Given the description of an element on the screen output the (x, y) to click on. 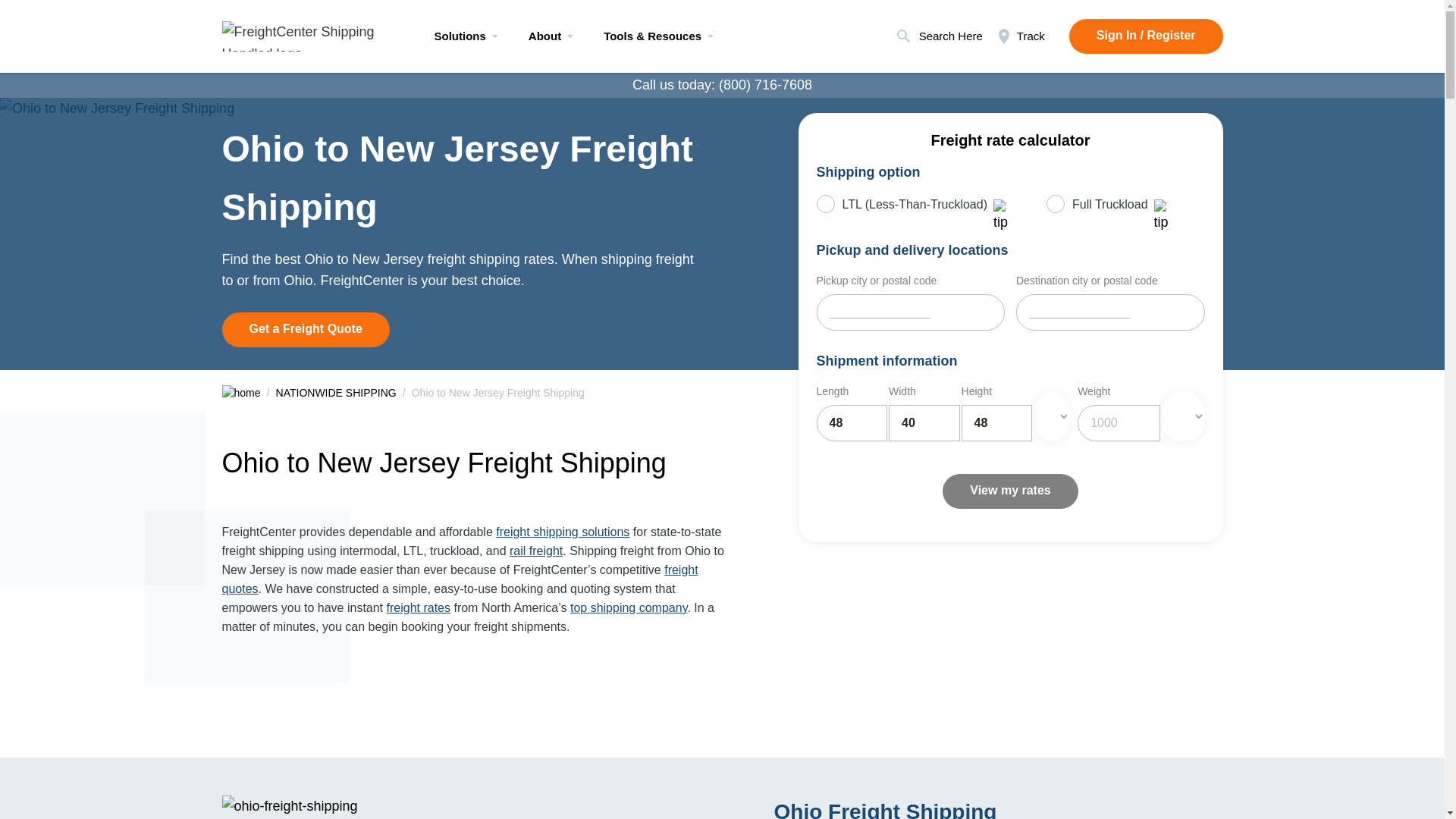
View my rates (1009, 491)
48 (996, 422)
NATIONWIDE SHIPPING (336, 392)
freight shipping solutions (562, 531)
48 (850, 422)
Track (1019, 36)
rail freight (535, 550)
Get a Freight Quote (304, 329)
40 (923, 422)
Visit freightcenter.com (304, 31)
